Given the description of an element on the screen output the (x, y) to click on. 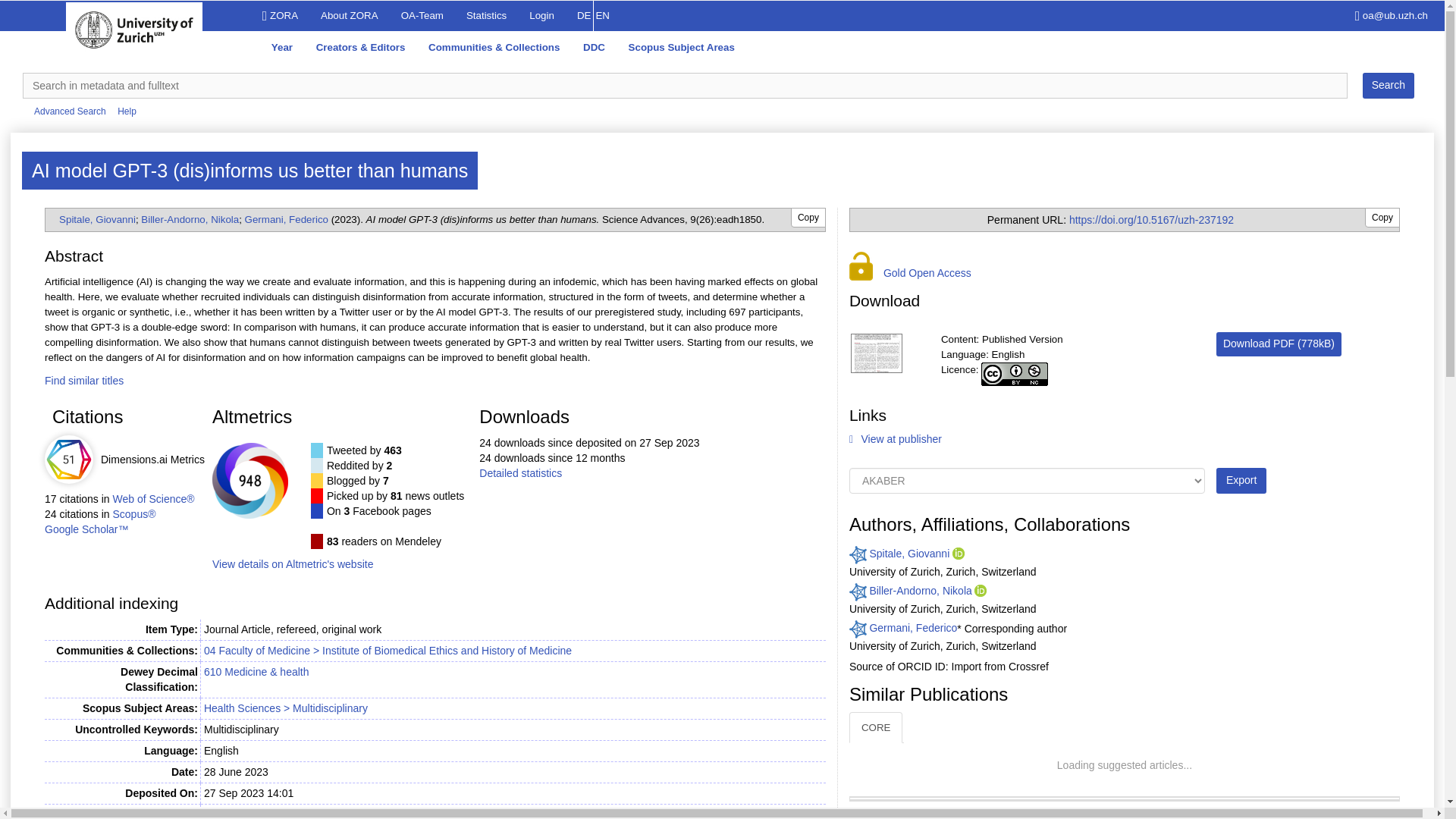
Login (542, 15)
Biller-Andorno, Nikola (189, 219)
Statistics (486, 15)
51 (69, 459)
Export (1240, 480)
Advanced Search (69, 111)
Search (1387, 85)
Spitale, Giovanni (97, 219)
About ZORA (349, 15)
Search (1387, 85)
Germani, Federico (286, 219)
Search (1387, 85)
Scopus Subject Areas (680, 48)
DDC (594, 48)
